Given the description of an element on the screen output the (x, y) to click on. 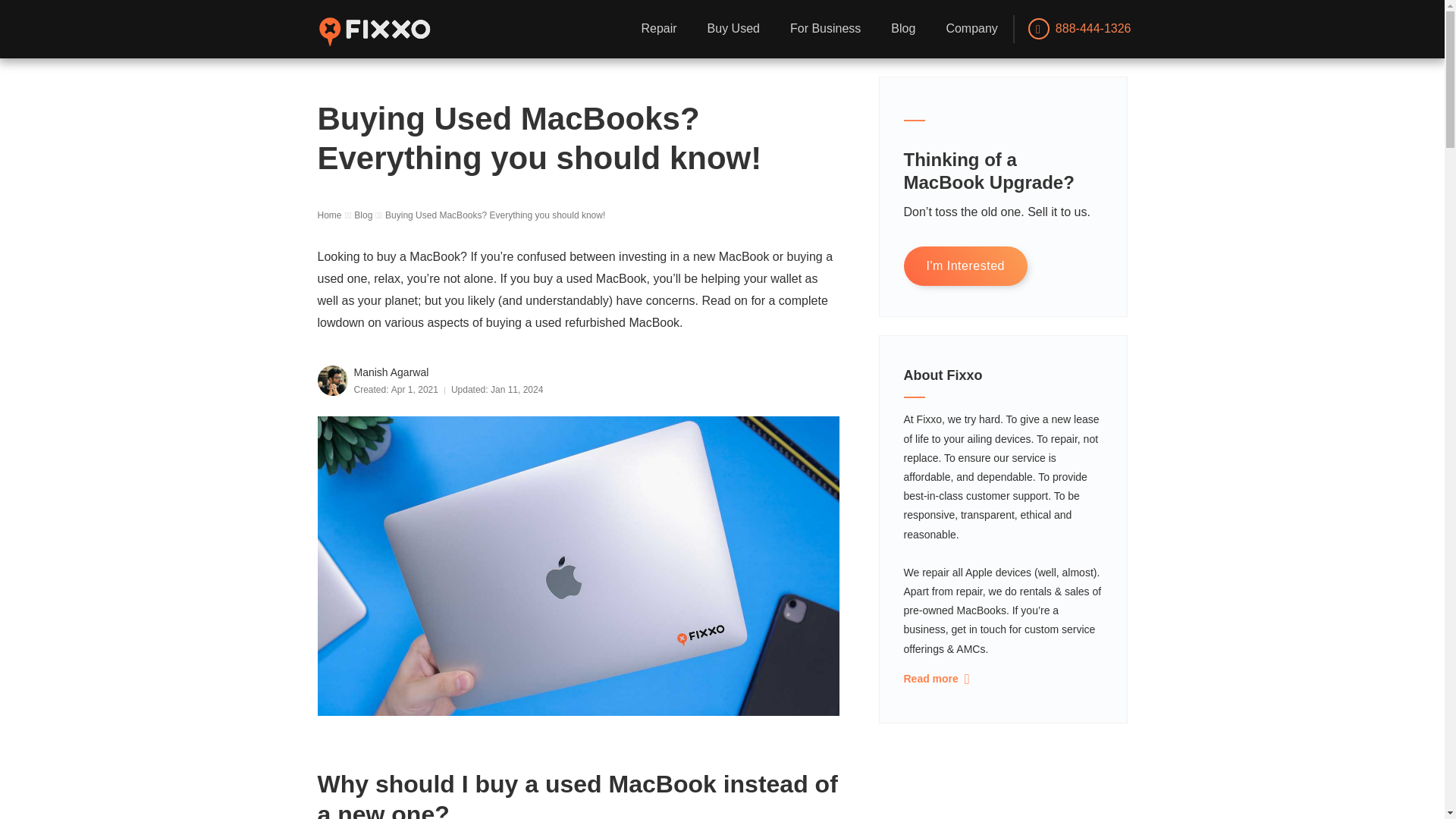
Blog (903, 29)
For Business (825, 29)
Blog (364, 216)
I'M Interested (965, 266)
Home (330, 216)
